Given the description of an element on the screen output the (x, y) to click on. 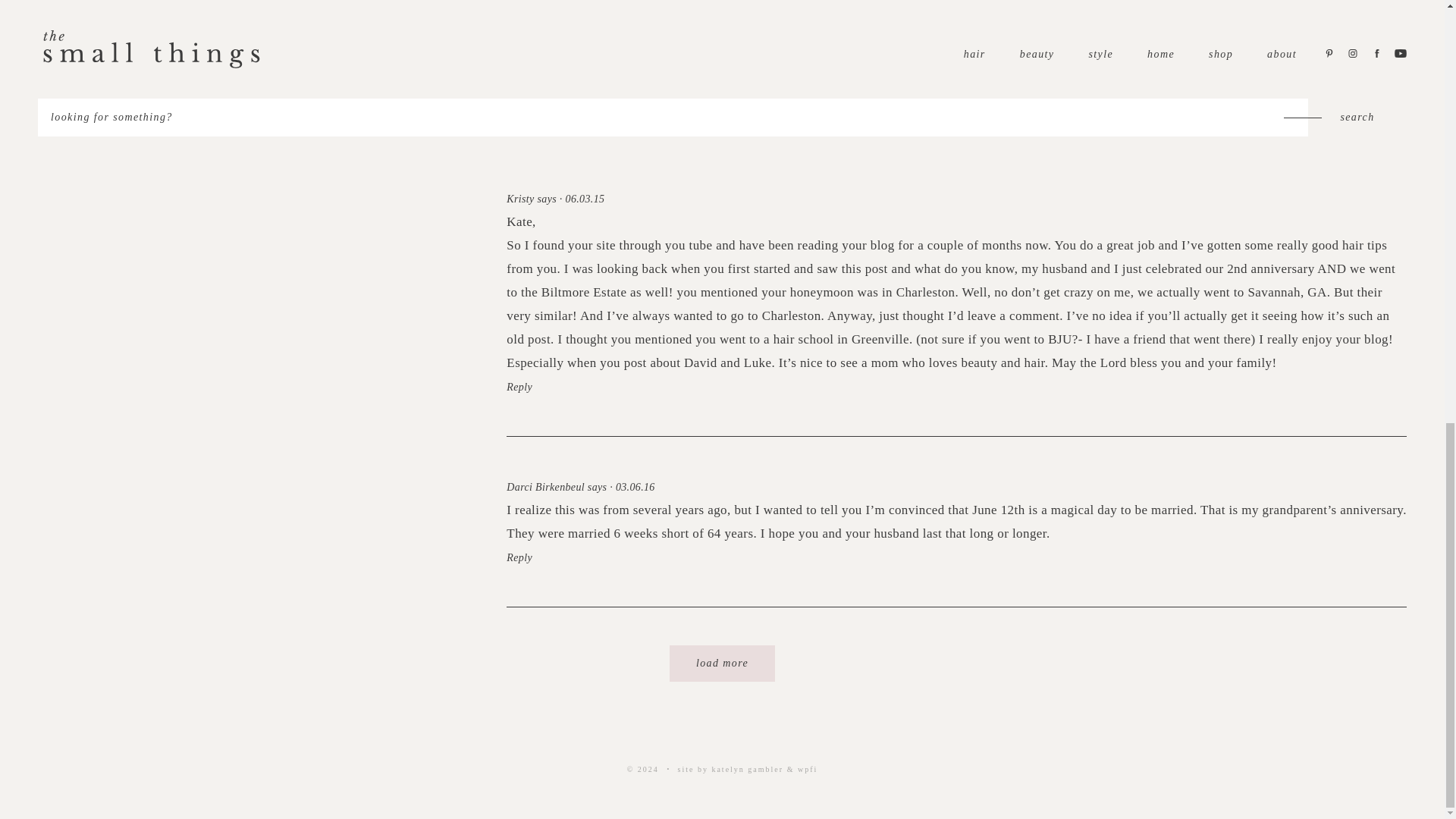
Reply (519, 98)
Reply (519, 387)
Reply (519, 557)
